Given the description of an element on the screen output the (x, y) to click on. 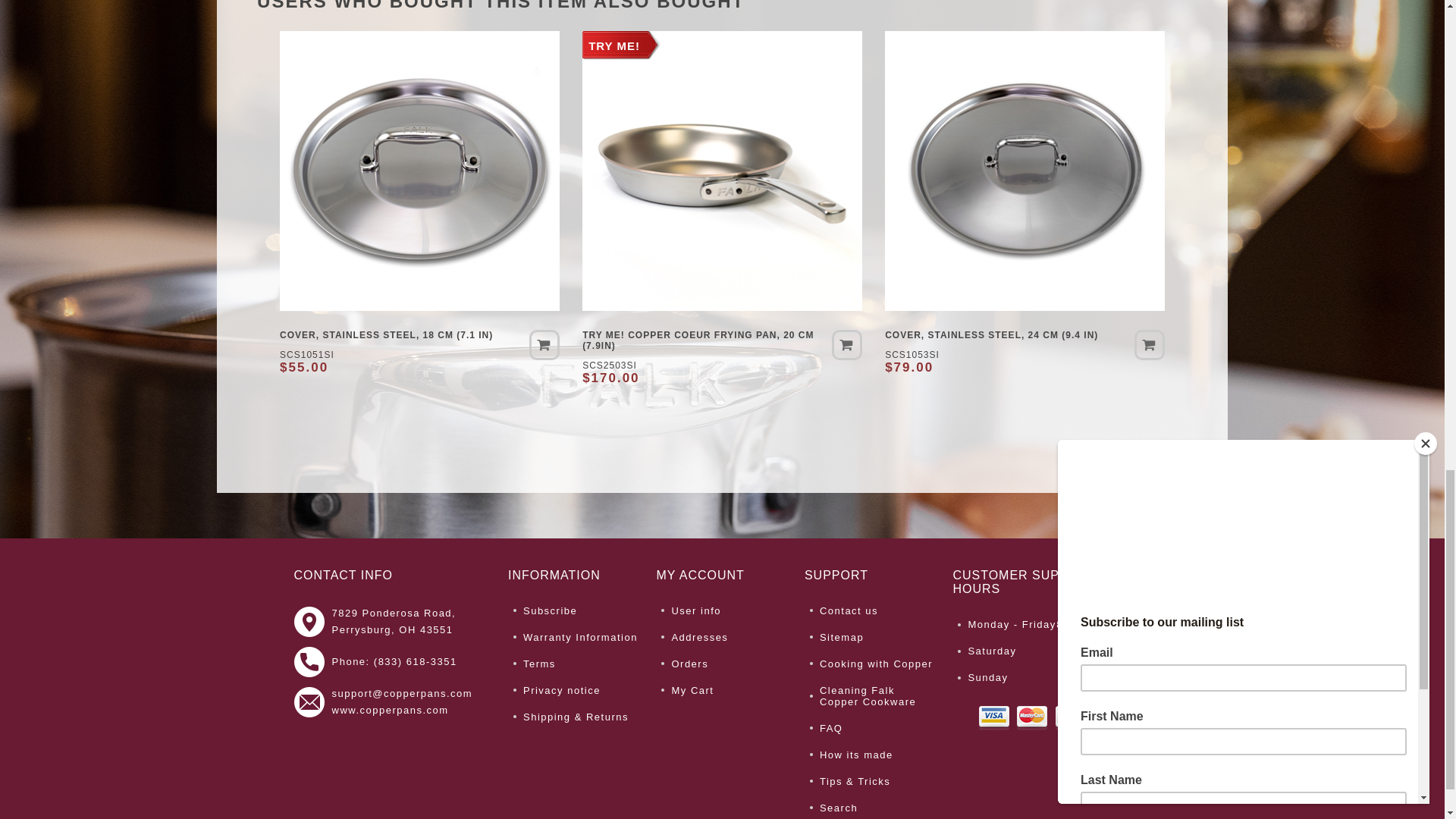
Add to cart (1149, 345)
Add to cart (544, 345)
Add to cart (846, 345)
